Given the description of an element on the screen output the (x, y) to click on. 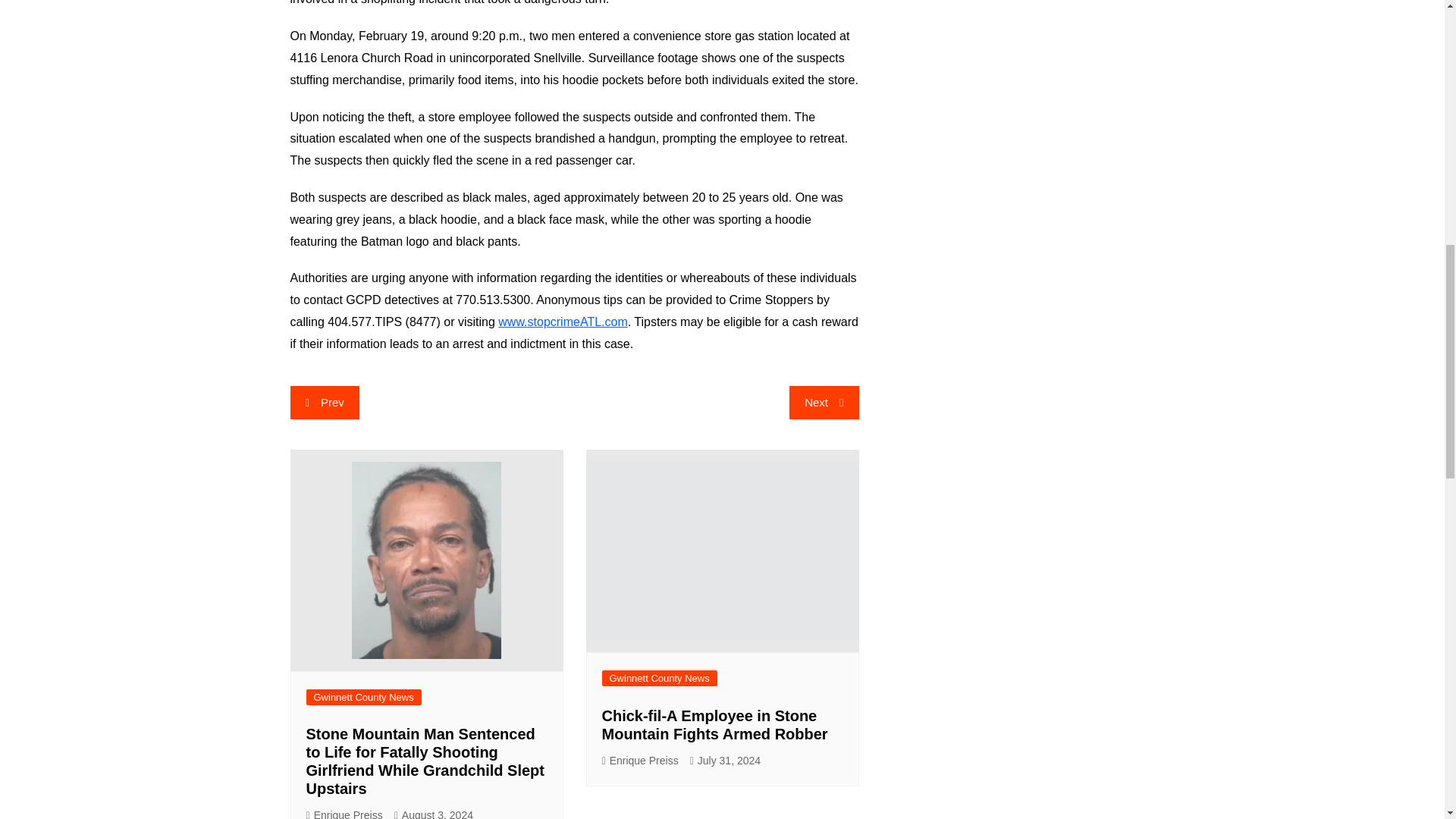
www.stopcrimeATL.com (562, 321)
